Given the description of an element on the screen output the (x, y) to click on. 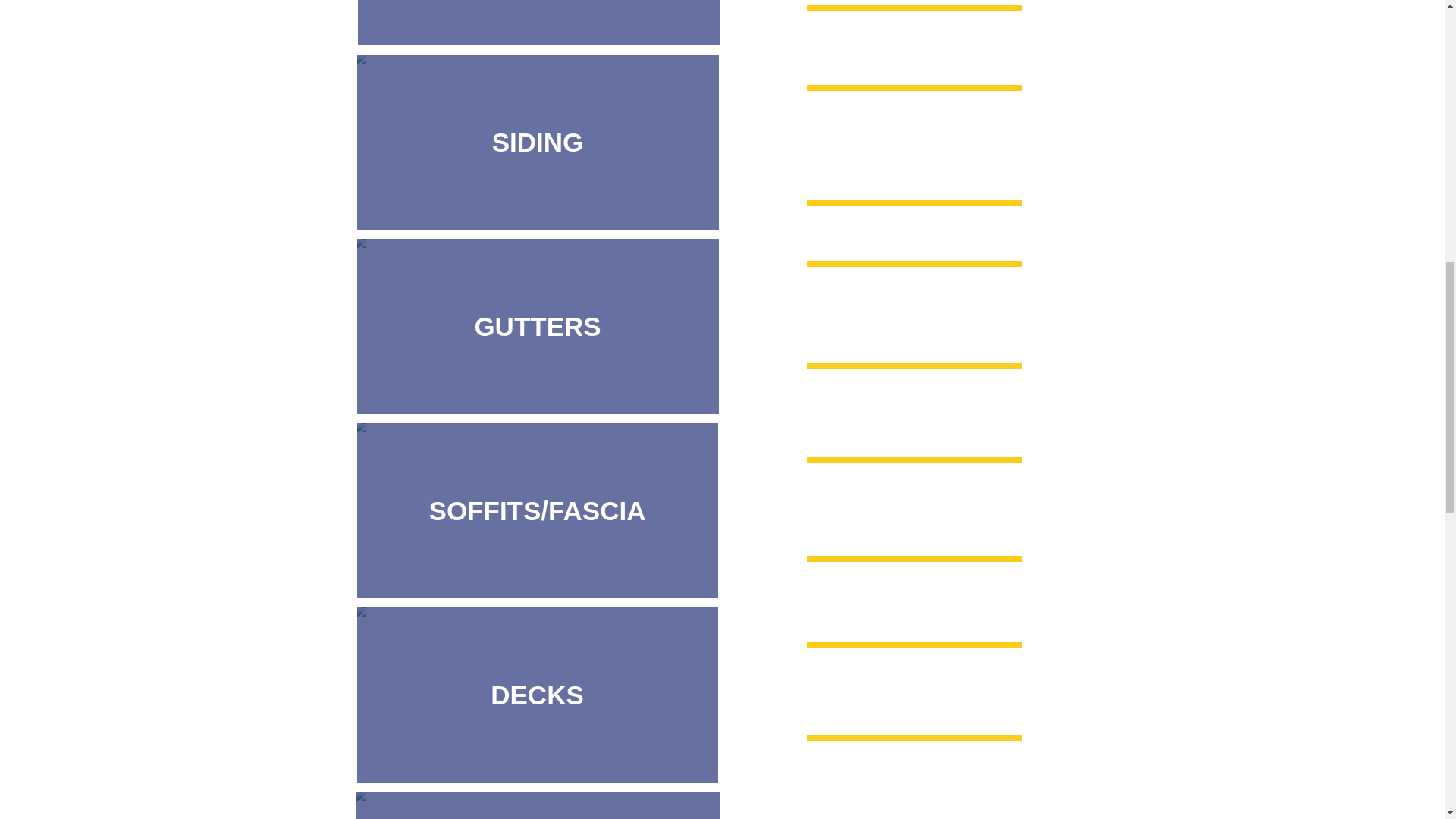
Painting the Fascia Board.jpg (537, 510)
Roofing.jpg (537, 24)
Construction Worker Spreading Wet Concrete.jpg (537, 803)
Carpenter building wooden deck .jpg (537, 693)
GUTTERS (537, 325)
DECKS (537, 693)
Man Screws In A Wall.jpg (537, 141)
Workman Replacing Guttering On Exterior Of House.jpg (537, 325)
ROOFING (538, 24)
SIDING (537, 141)
